Given the description of an element on the screen output the (x, y) to click on. 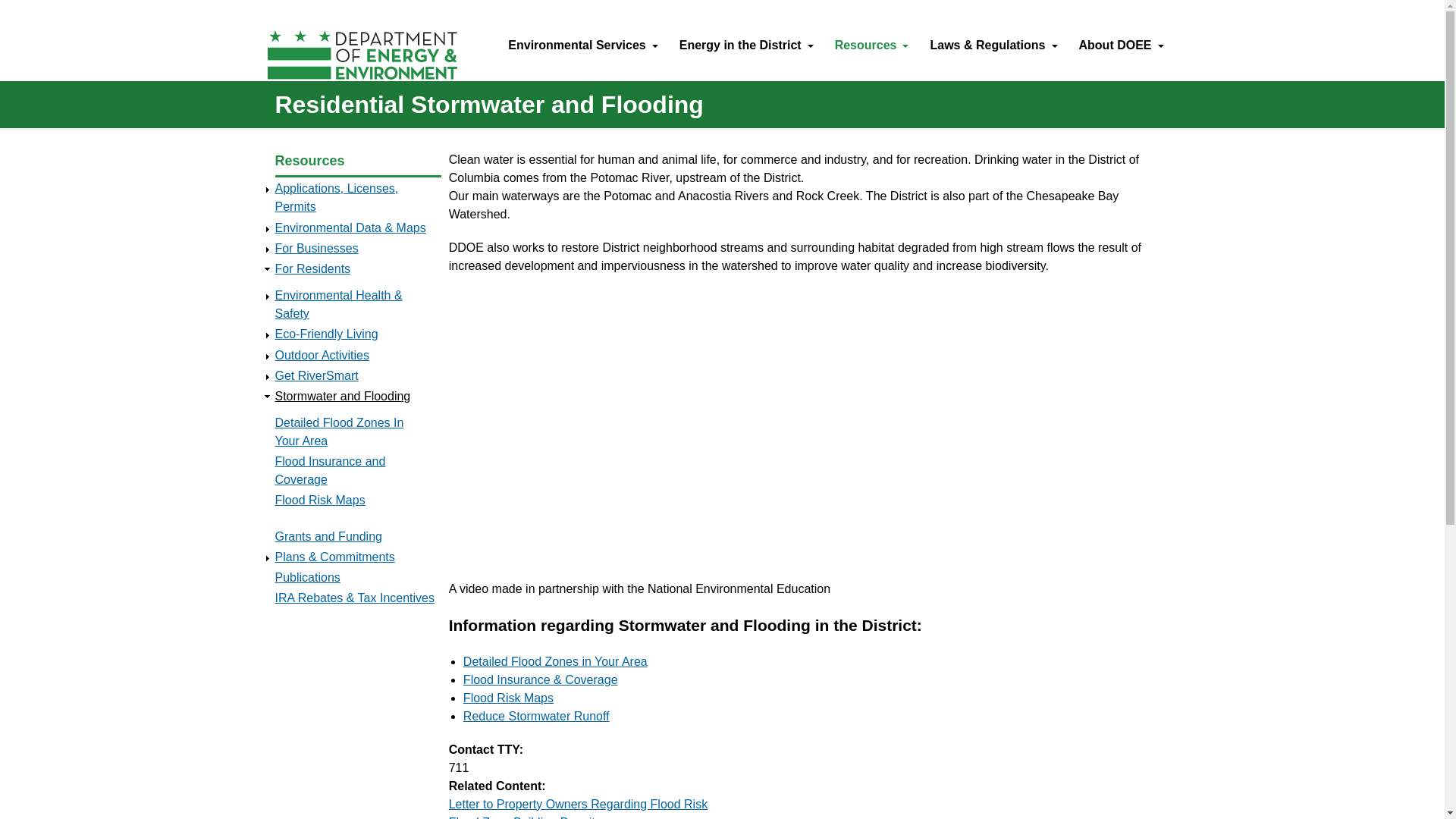
Energy in the District (746, 48)
Resources (872, 48)
Environmental Services (582, 48)
Energy in the District (746, 48)
Resources (872, 48)
Environmental Services (582, 48)
Home (389, 57)
